Given the description of an element on the screen output the (x, y) to click on. 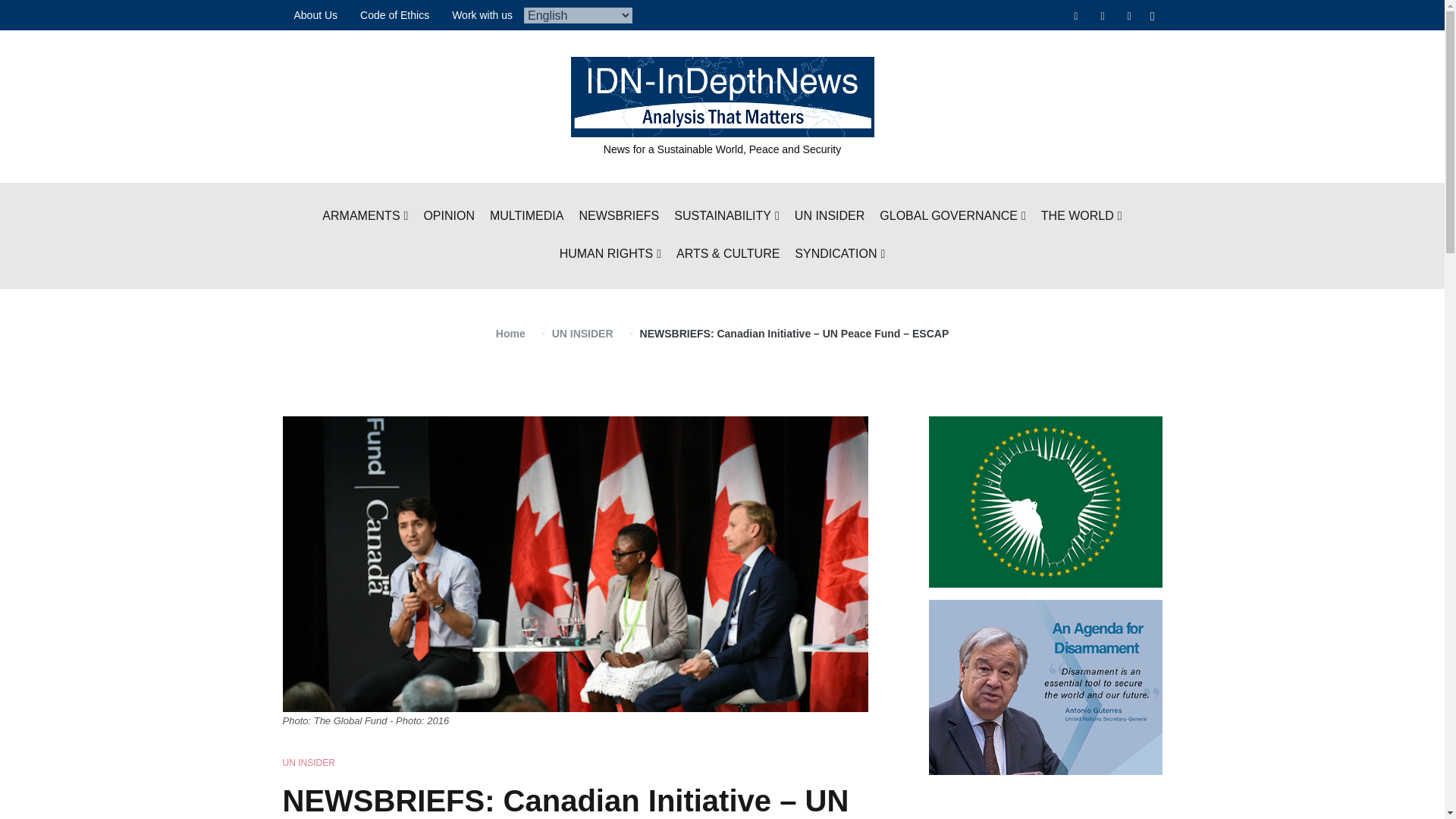
NEWSBRIEFS (618, 216)
UN INSIDER (829, 216)
MULTIMEDIA (526, 216)
Work with us (482, 14)
Code of Ethics (395, 14)
ARMAMENTS (364, 216)
SUSTAINABILITY (726, 216)
OPINION (448, 216)
GLOBAL GOVERNANCE (952, 216)
About Us (315, 14)
